Given the description of an element on the screen output the (x, y) to click on. 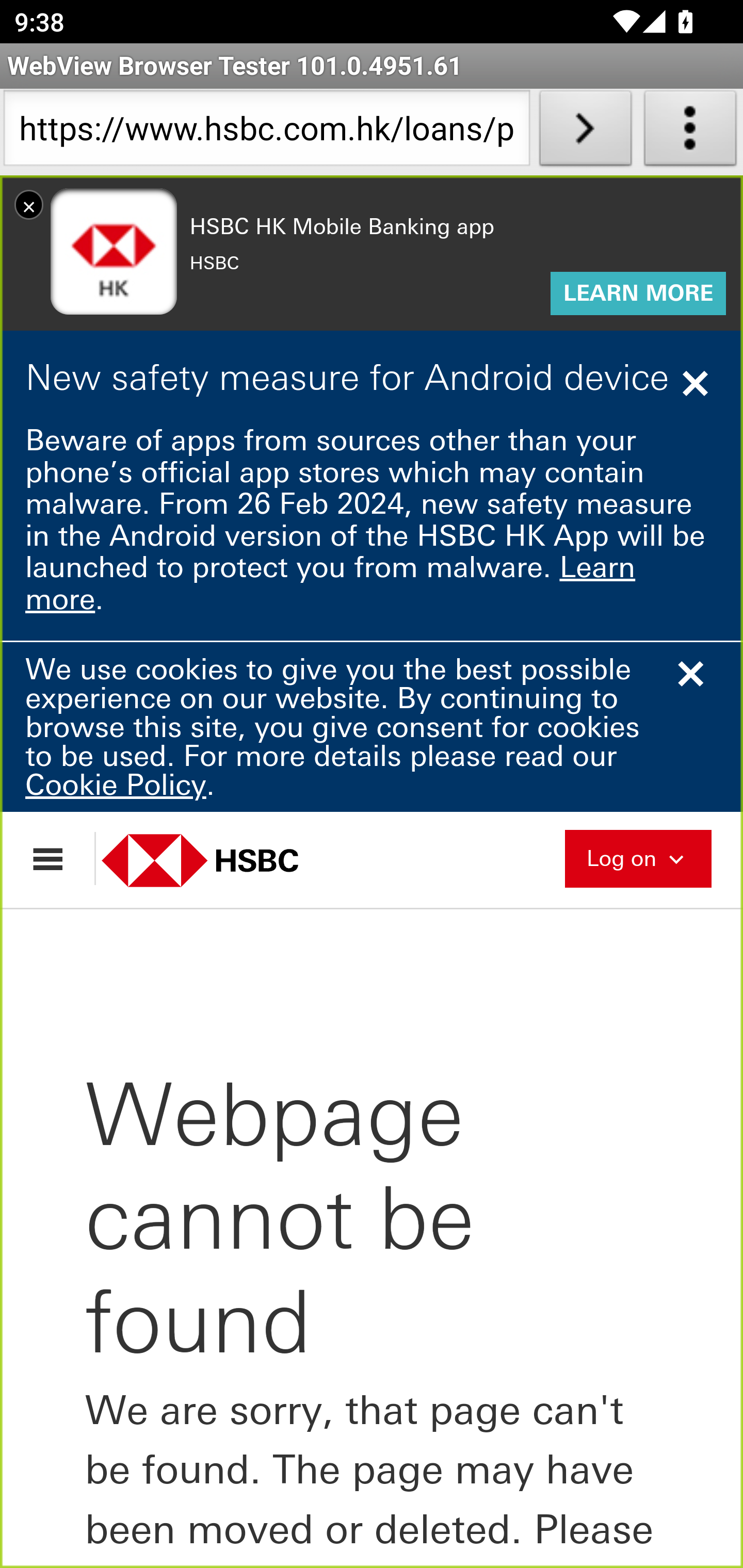
Load URL (585, 132)
About WebView (690, 132)
X (29, 204)
LEARN MORE (638, 293)
Close (697, 382)
Learn more (331, 582)
close cookie banner (697, 674)
Cookie Policy (116, 783)
Log on Collapsed (638, 855)
Open menu (57, 858)
HSBC Hong Kong Bank (221, 859)
